Given the description of an element on the screen output the (x, y) to click on. 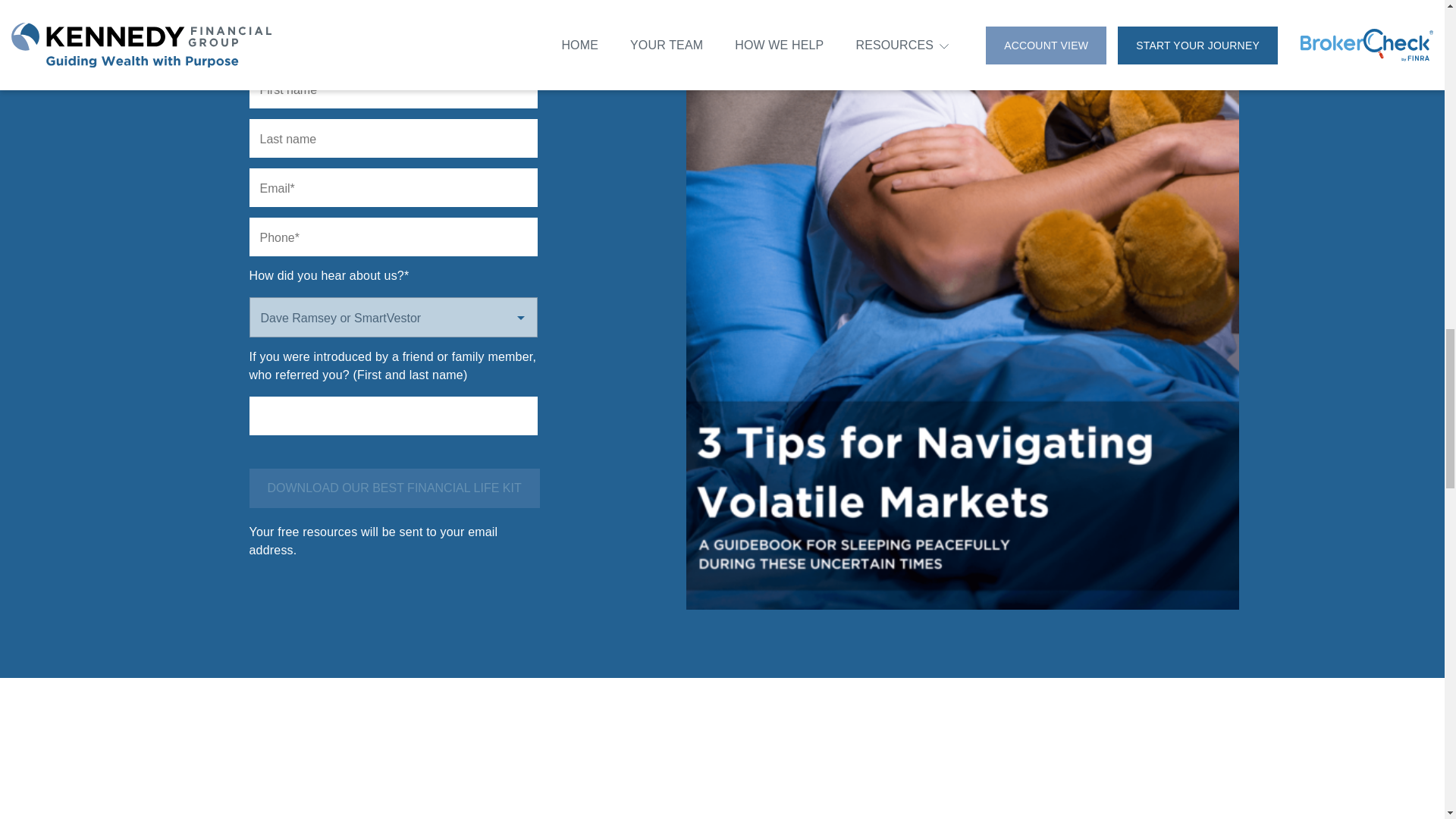
Download our Best Financial Life Kit (393, 487)
Download our Best Financial Life Kit (393, 487)
